Given the description of an element on the screen output the (x, y) to click on. 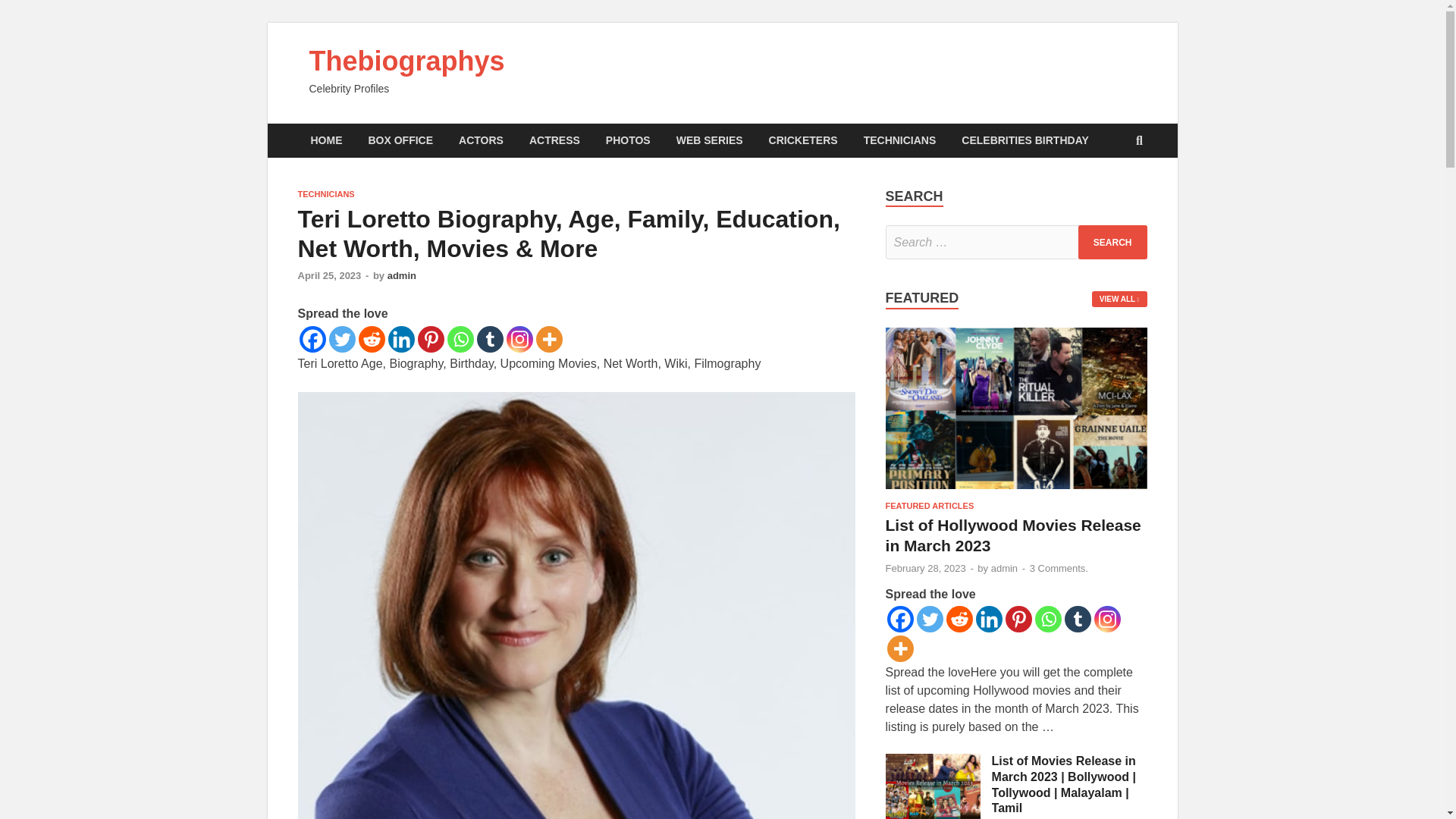
HOME (326, 140)
Twitter (342, 338)
Search (1112, 242)
admin (401, 275)
Tumblr (489, 338)
TECHNICIANS (899, 140)
CELEBRITIES BIRTHDAY (1025, 140)
PHOTOS (627, 140)
ACTORS (480, 140)
ACTRESS (554, 140)
Reddit (371, 338)
Whatsapp (460, 338)
WEB SERIES (709, 140)
BOX OFFICE (400, 140)
Thebiographys (406, 60)
